Given the description of an element on the screen output the (x, y) to click on. 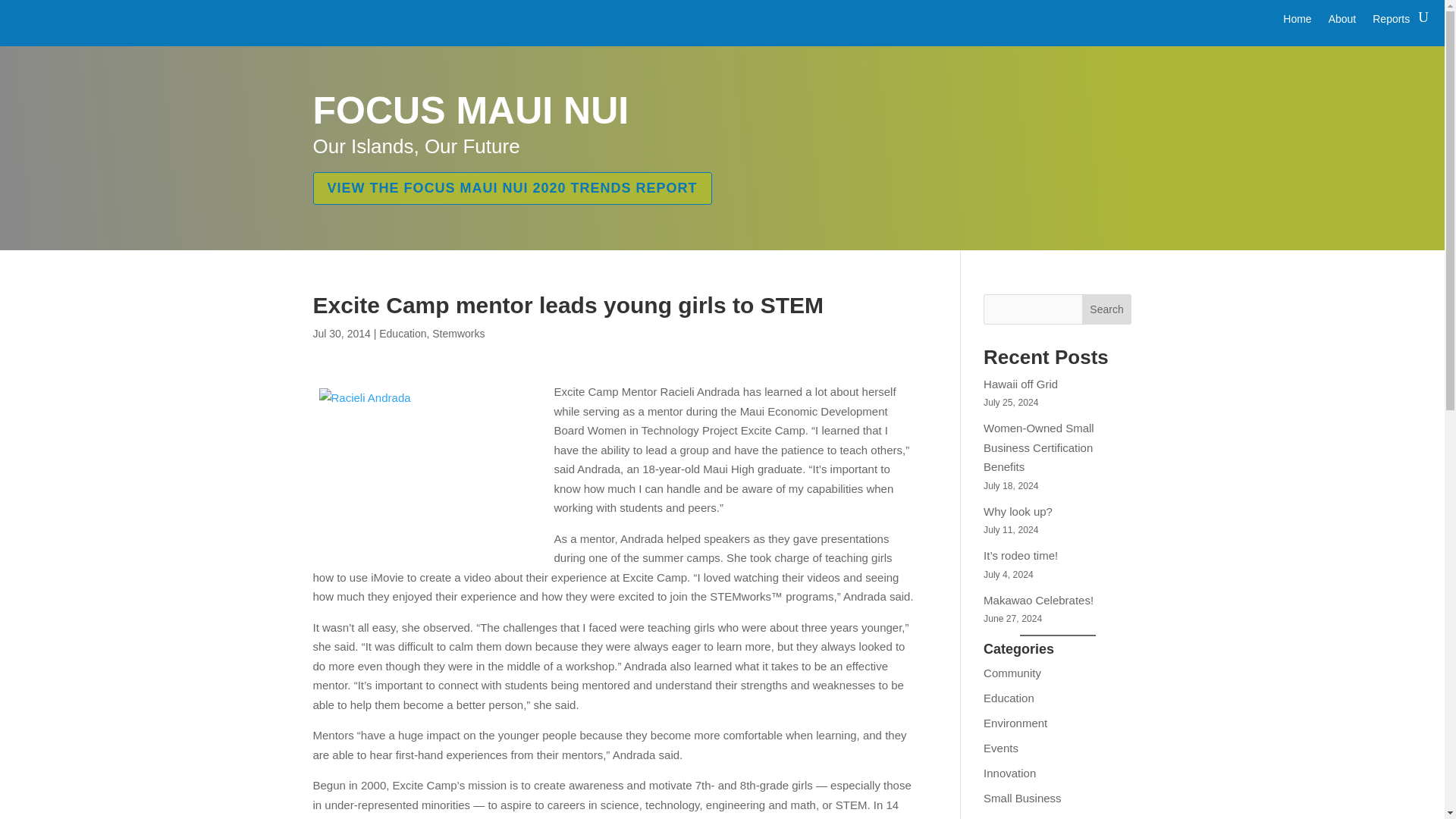
Small Business (1022, 797)
Search (1106, 309)
Innovation (1009, 772)
Women-Owned Small Business Certification Benefits (1039, 447)
Racieli Andrada (429, 470)
Education (402, 333)
Education (1008, 697)
Hawaii off Grid (1021, 383)
Why look up? (1018, 511)
Community (1012, 672)
Makawao Celebrates! (1038, 599)
VIEW THE FOCUS MAUI NUI 2020 TRENDS REPORT (512, 187)
Stemworks (458, 333)
Environment (1015, 722)
